Given the description of an element on the screen output the (x, y) to click on. 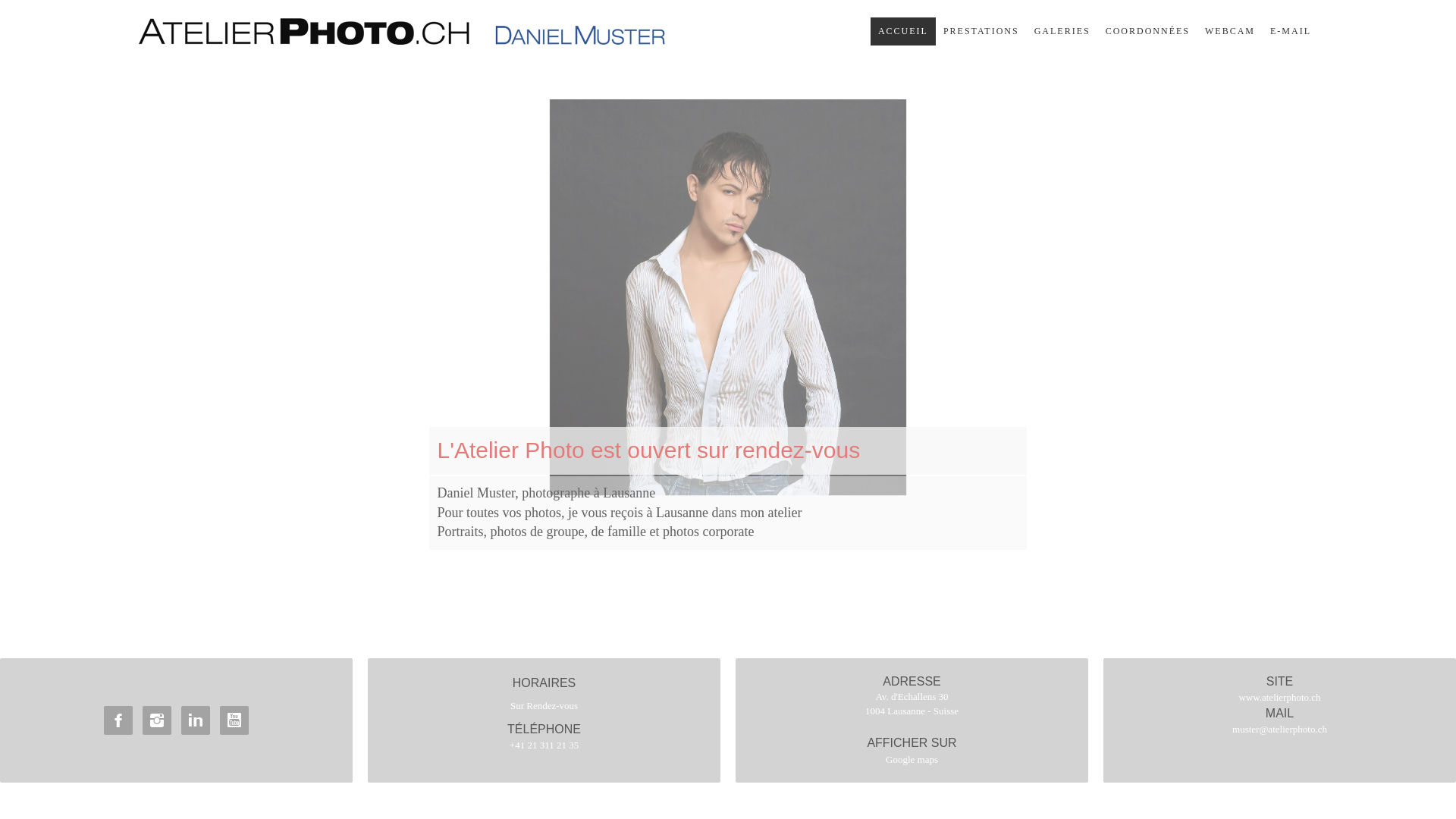
www.facebook.com/atelierphotolausanne Element type: hover (117, 720)
muster@atelierphoto.ch Element type: text (1279, 729)
WEBCAM Element type: text (1229, 31)
https://www.instagram.com/photographelausanne/ Element type: hover (156, 720)
E-MAIL Element type: text (1290, 31)
www.linkedin.com/in/danielmuster/ Element type: hover (195, 720)
PRESTATIONS Element type: text (980, 31)
ACCUEIL Element type: text (902, 31)
www.youtube.com/c/DanielMuster Element type: hover (233, 720)
www.atelierphoto.ch Element type: text (1279, 697)
GALERIES Element type: text (1062, 31)
Google maps Element type: text (911, 760)
